Given the description of an element on the screen output the (x, y) to click on. 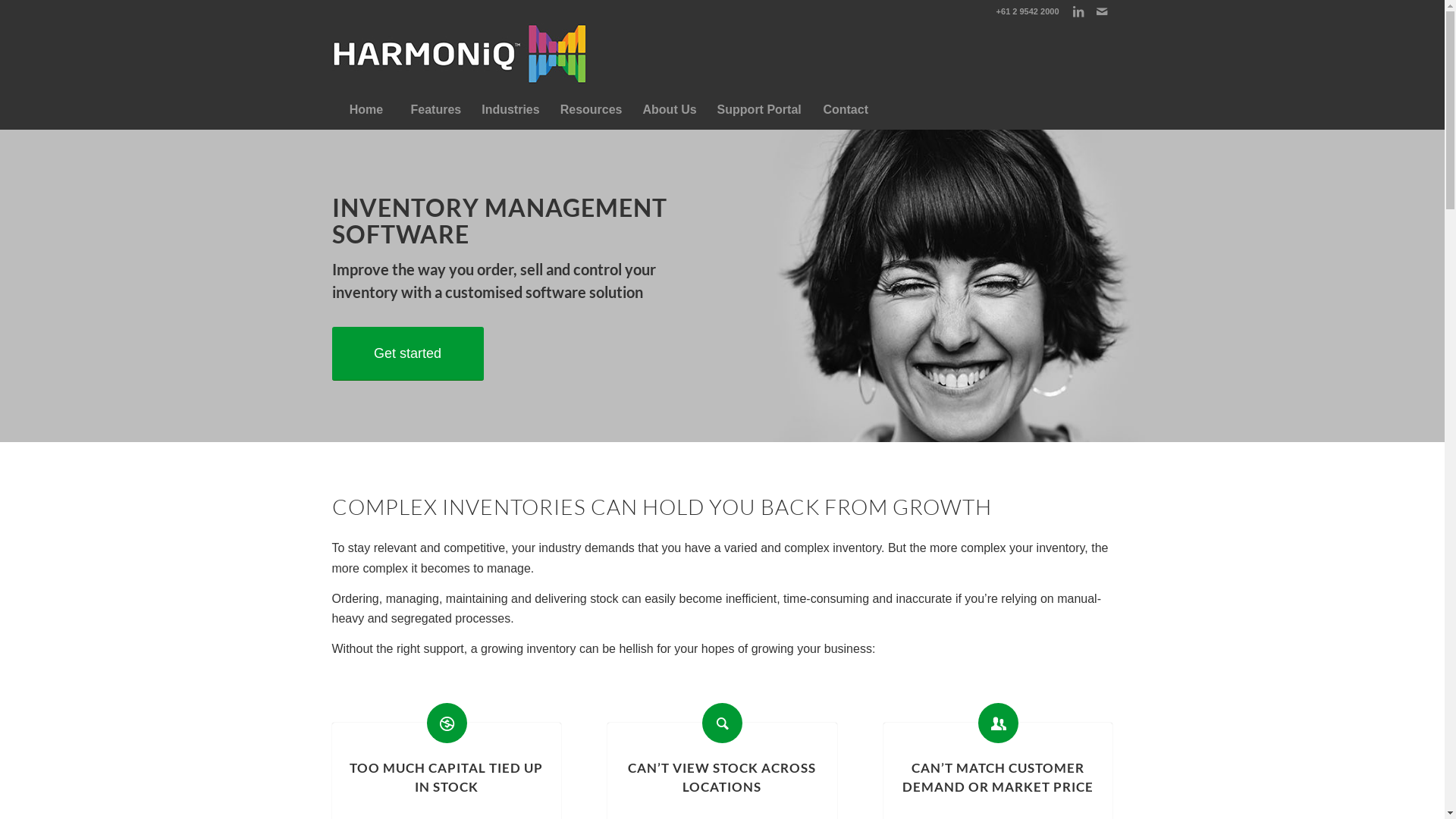
Home Element type: text (366, 109)
About Us Element type: text (669, 109)
Harmoniq Accounting Solutions Software Element type: hover (460, 53)
Resources Element type: text (590, 109)
Get started Element type: text (407, 353)
Mail Element type: hover (1101, 11)
Contact Element type: text (845, 109)
Support Portal Element type: text (758, 109)
Features Element type: text (435, 109)
Industries Element type: text (509, 109)
LinkedIn Element type: hover (1078, 11)
Harmoniq Accounting Solutions Software Element type: hover (460, 56)
